Given the description of an element on the screen output the (x, y) to click on. 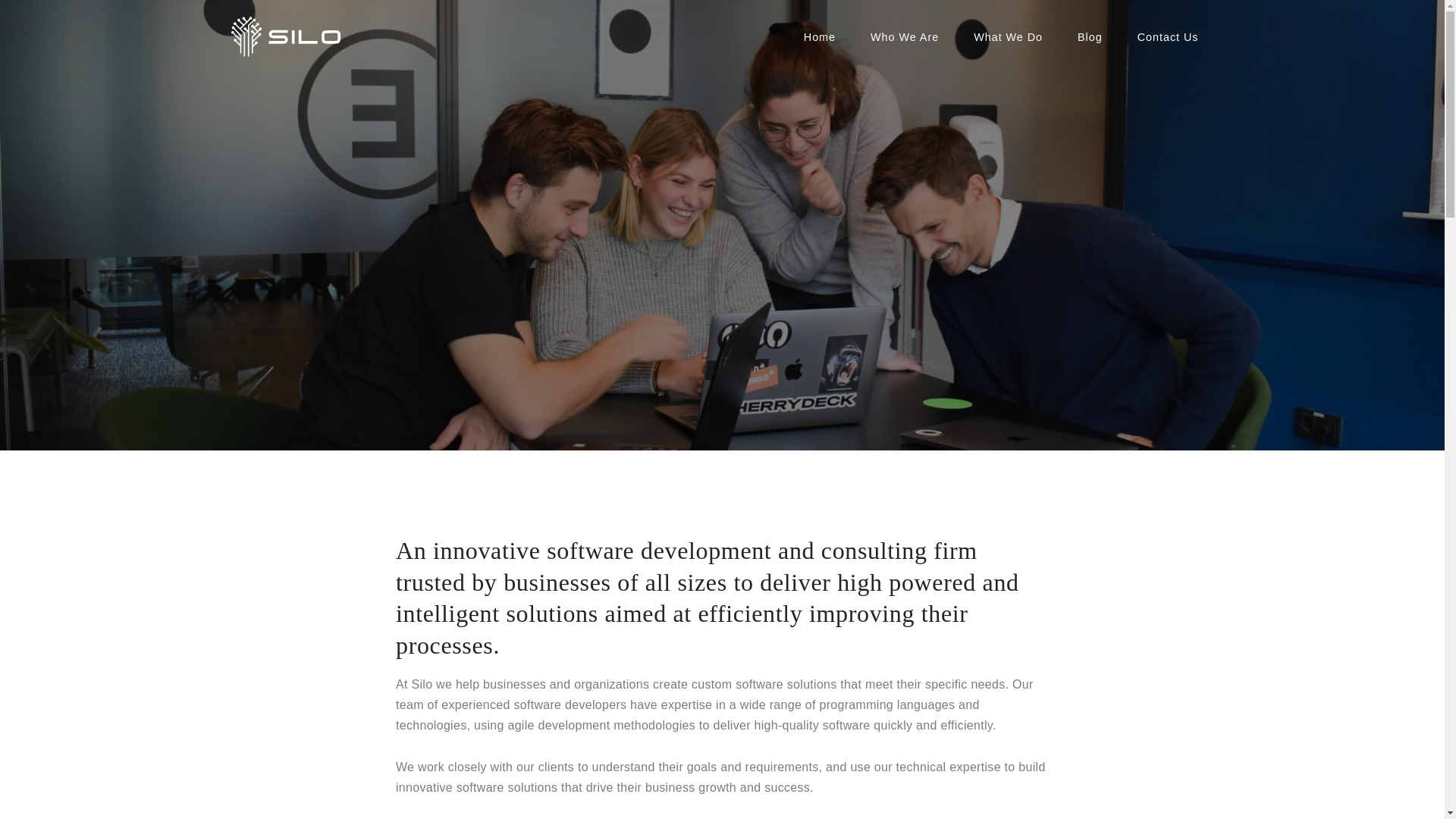
Who We Are (904, 36)
What We Do (1008, 36)
Contact Us (1168, 36)
Home (819, 36)
Blog (1089, 36)
